Given the description of an element on the screen output the (x, y) to click on. 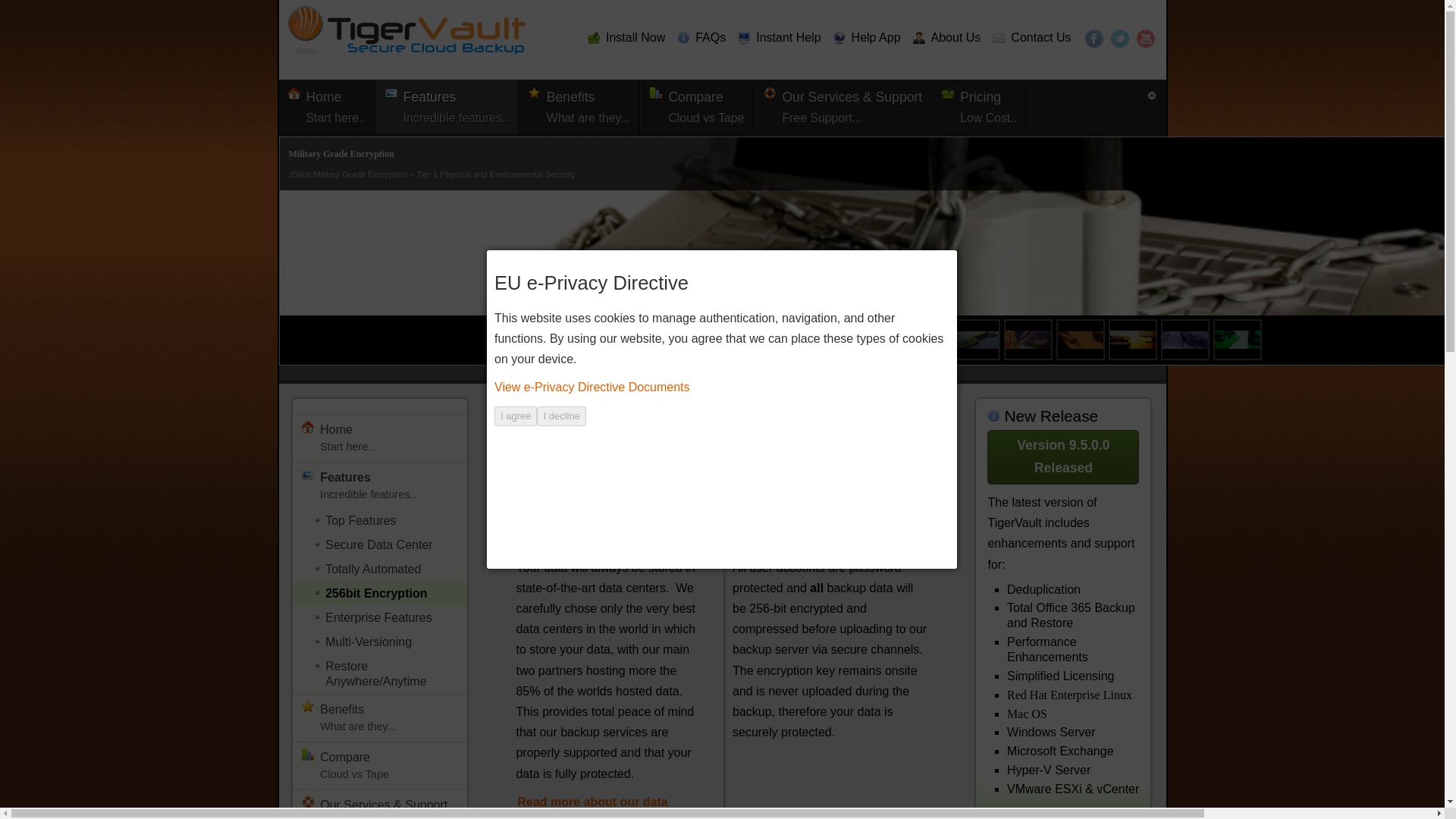
Cloud vs Tape (697, 106)
FAQs (979, 106)
Start here.. (701, 37)
Twitter (327, 106)
Facebook (327, 106)
Help App (1118, 38)
Install Now (1093, 38)
